Given the description of an element on the screen output the (x, y) to click on. 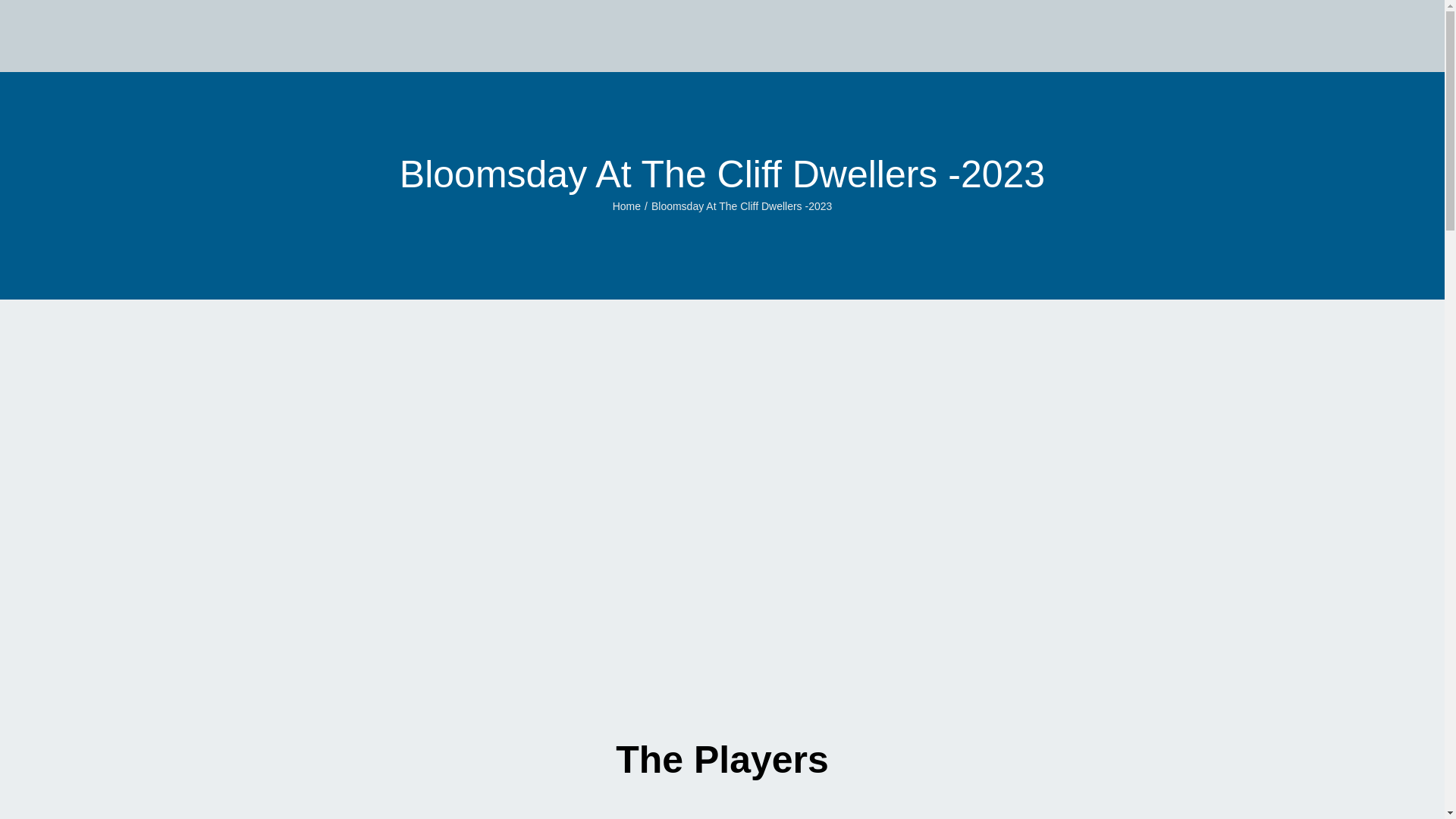
Vimeo video player 1 (722, 769)
Home (626, 205)
